Given the description of an element on the screen output the (x, y) to click on. 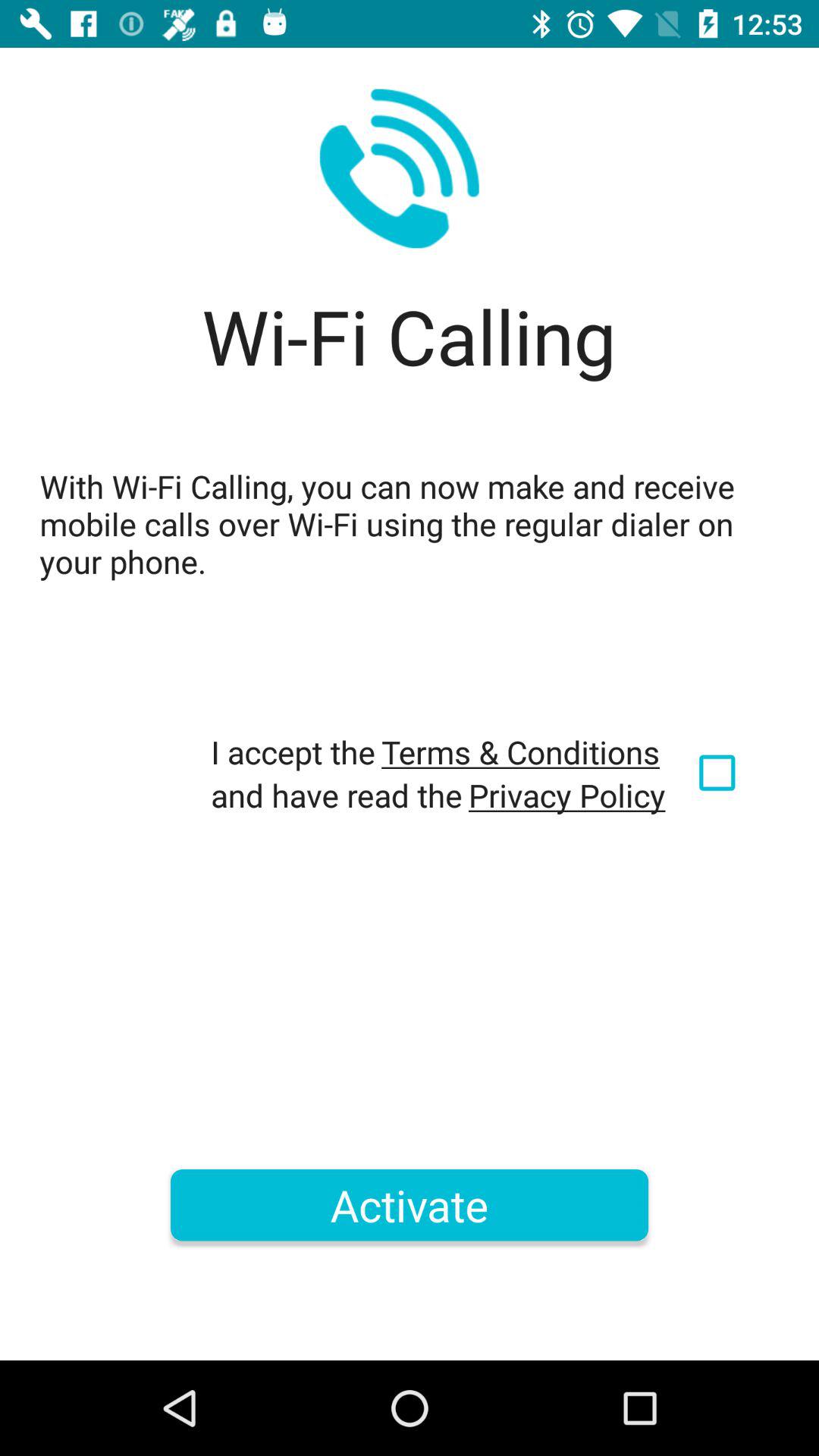
select the icon to the right of and have read icon (566, 794)
